Given the description of an element on the screen output the (x, y) to click on. 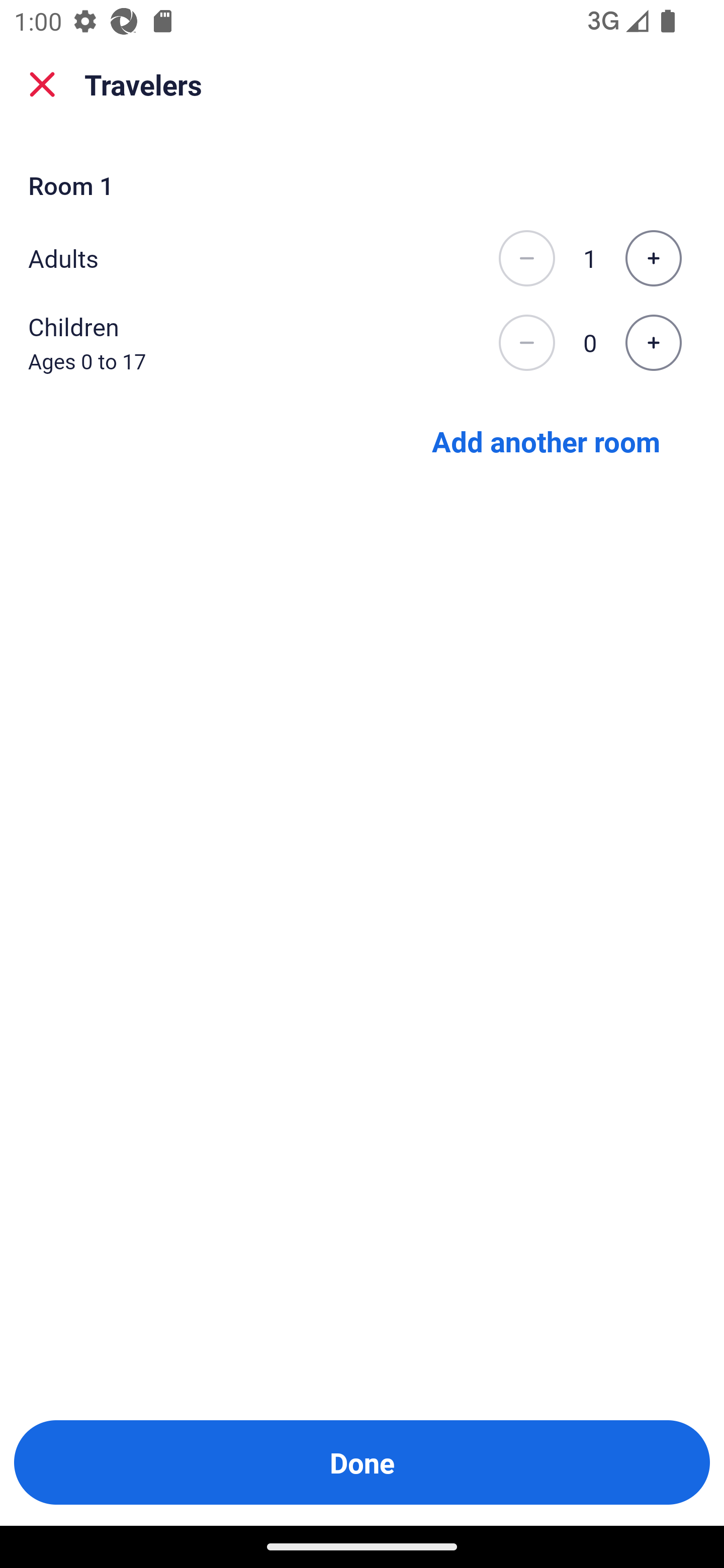
close (42, 84)
Decrease the number of adults (526, 258)
Increase the number of adults (653, 258)
Decrease the number of children (526, 343)
Increase the number of children (653, 343)
Add another room (545, 440)
Done (361, 1462)
